Given the description of an element on the screen output the (x, y) to click on. 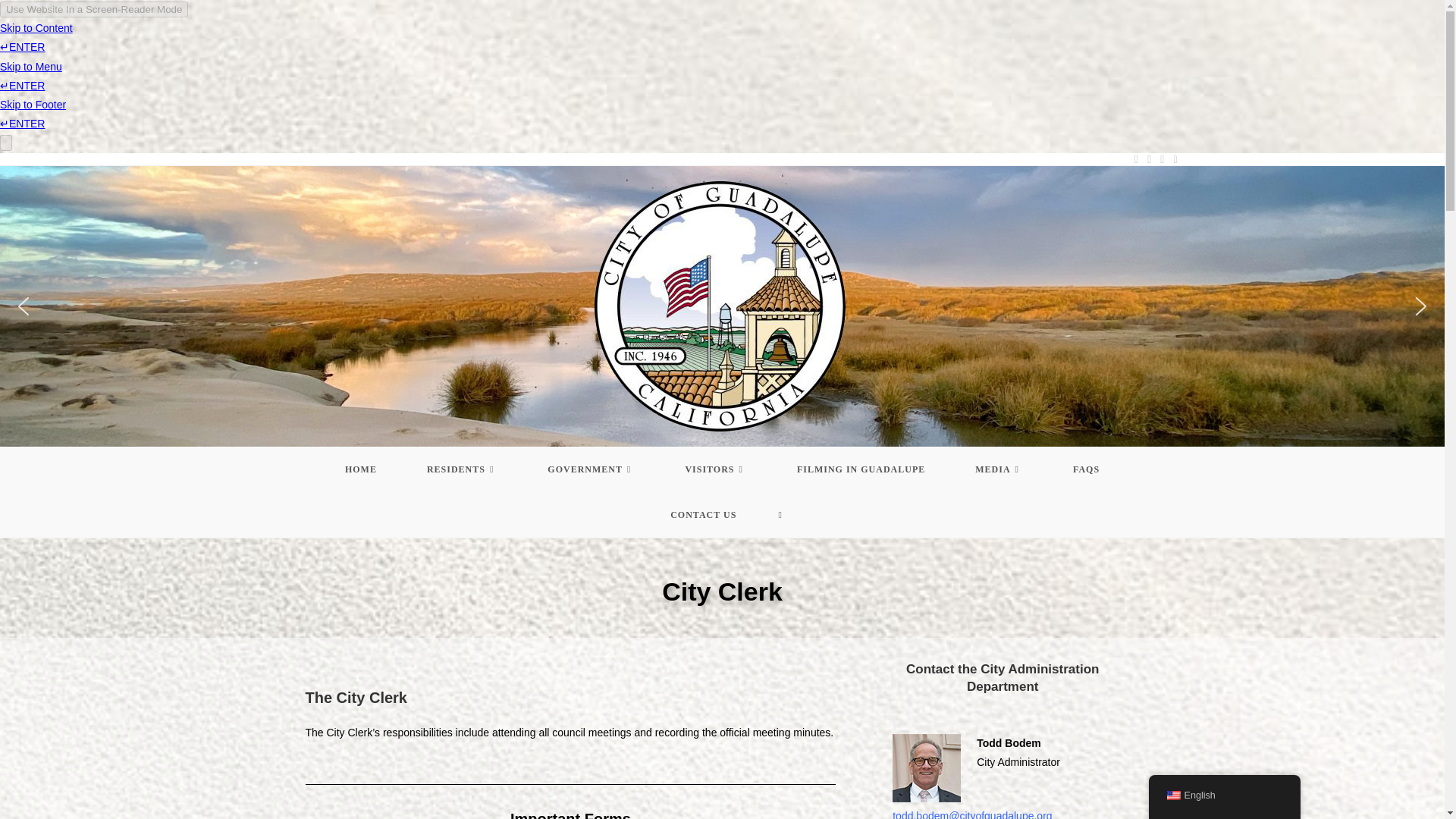
GOVERNMENT (590, 468)
English (1172, 795)
HOME (360, 468)
RESIDENTS (461, 468)
